Given the description of an element on the screen output the (x, y) to click on. 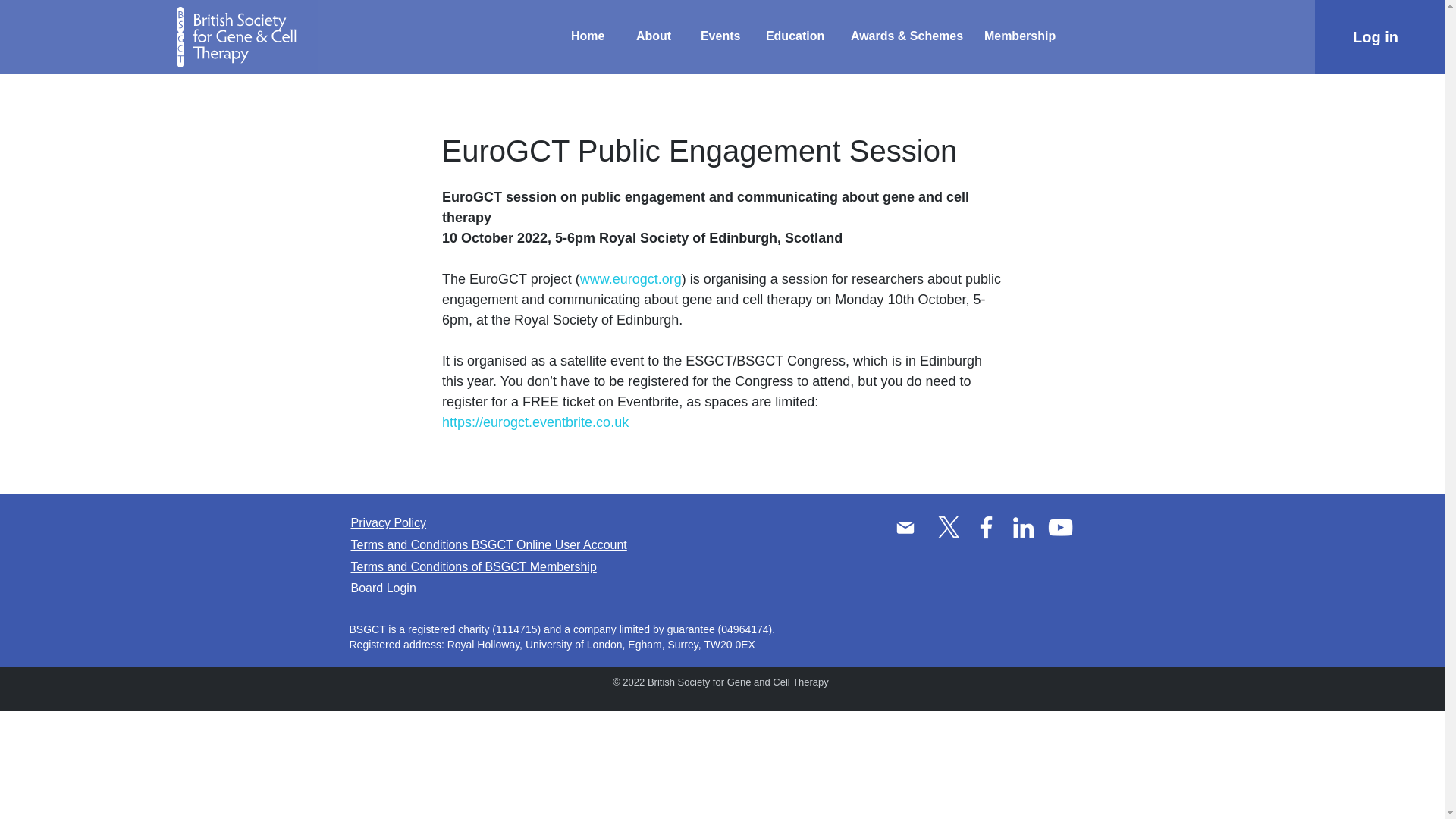
Privacy Policy (388, 522)
Log in (1375, 37)
Terms and Conditions of BSGCT Membership (472, 566)
Home (591, 36)
www.eurogct.org (630, 278)
Terms and Conditions BSGCT Online User Account (488, 544)
